Given the description of an element on the screen output the (x, y) to click on. 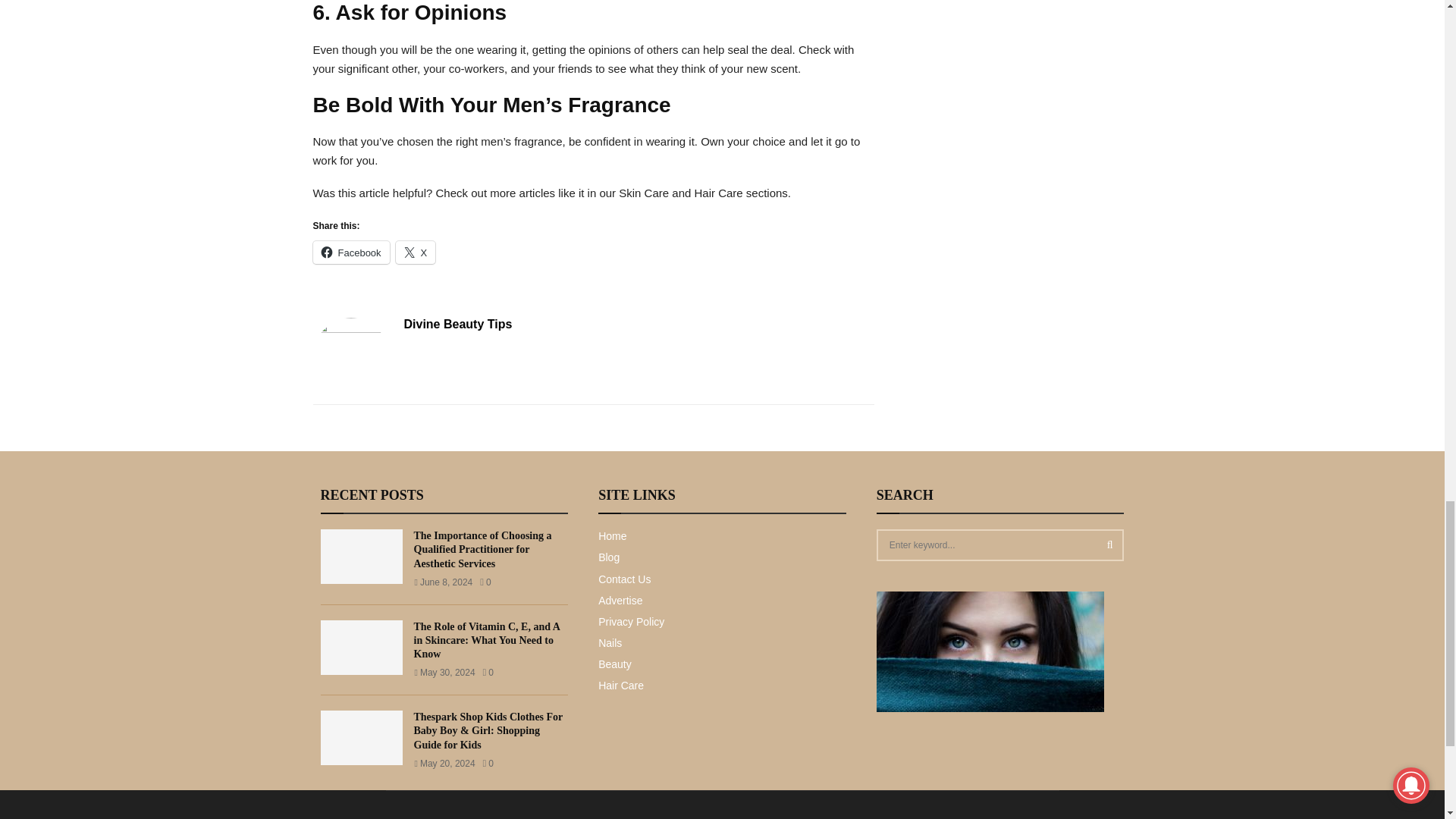
X (415, 251)
Posts by Divine Beauty Tips (457, 324)
Facebook (350, 251)
Click to share on X (415, 251)
Click to share on Facebook (350, 251)
Divine Beauty Tips (457, 324)
0 (485, 582)
